Given the description of an element on the screen output the (x, y) to click on. 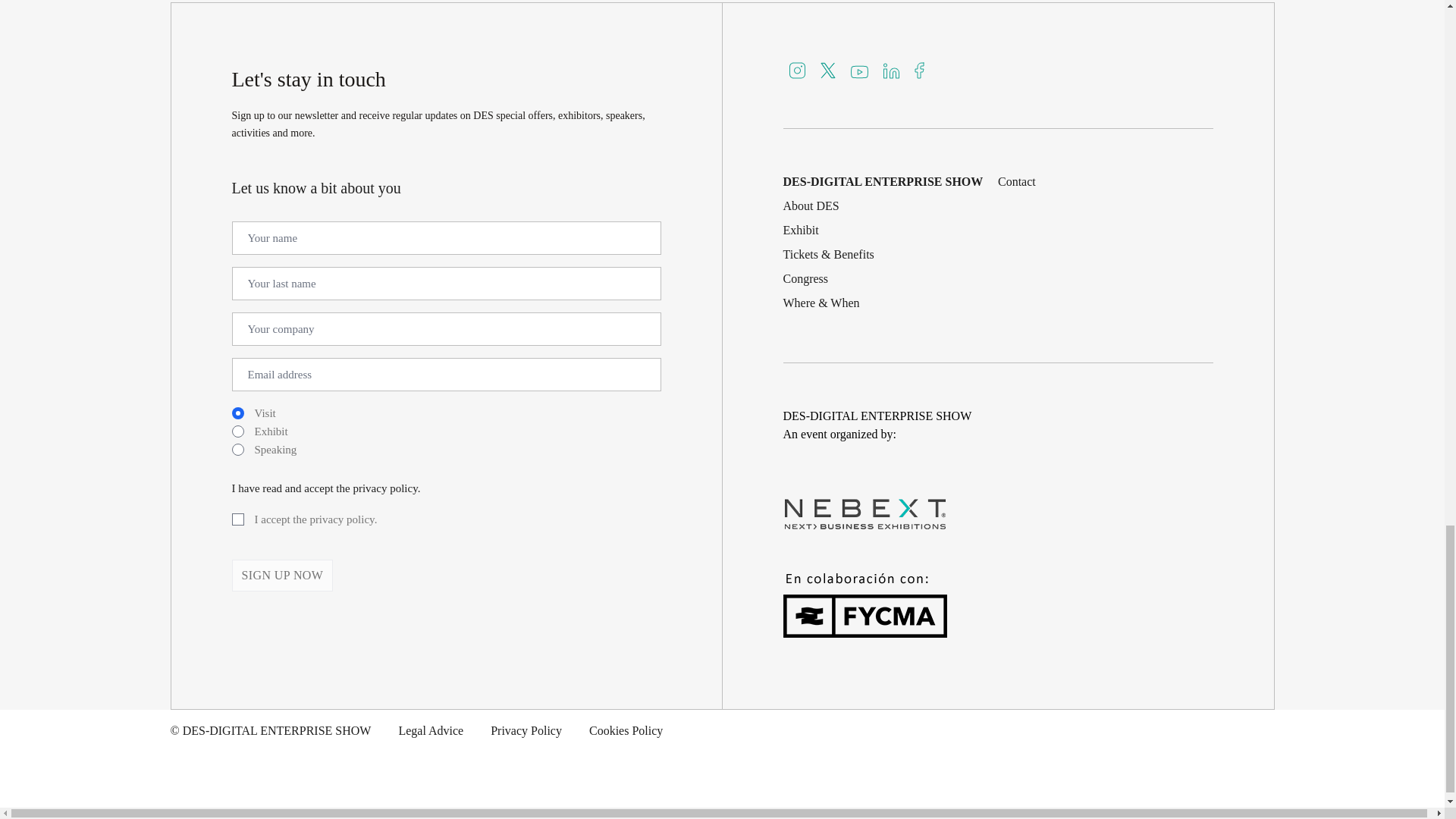
Visit (237, 413)
Speaking (237, 449)
SIGN UP NOW (282, 575)
Exhibit (237, 431)
